Given the description of an element on the screen output the (x, y) to click on. 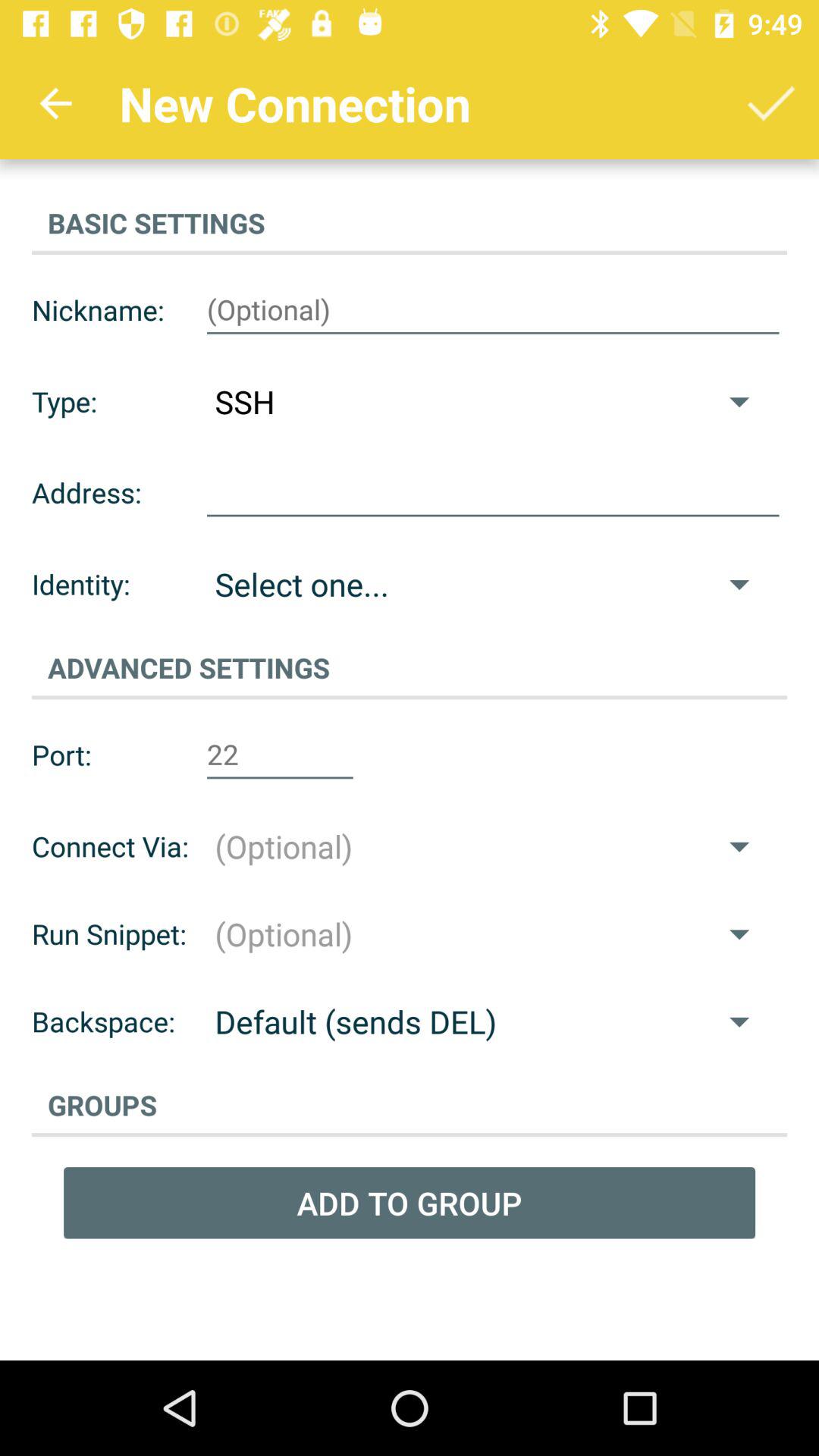
nickname (493, 309)
